Given the description of an element on the screen output the (x, y) to click on. 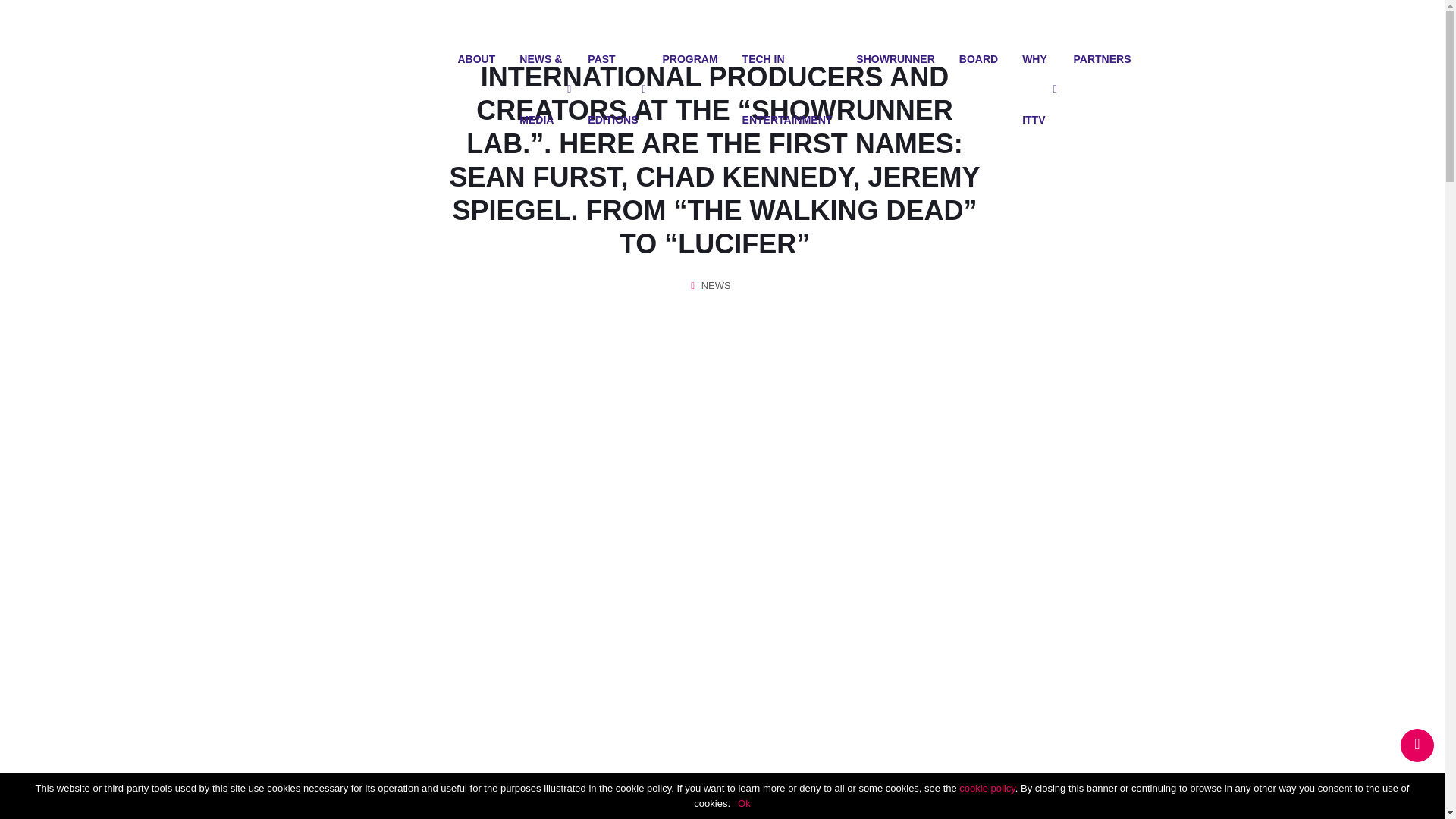
cookie policy (986, 787)
SHOWRUNNER (894, 58)
PROGRAM (689, 58)
NEWS (715, 285)
PARTNERS (1102, 58)
Ok (744, 803)
